Given the description of an element on the screen output the (x, y) to click on. 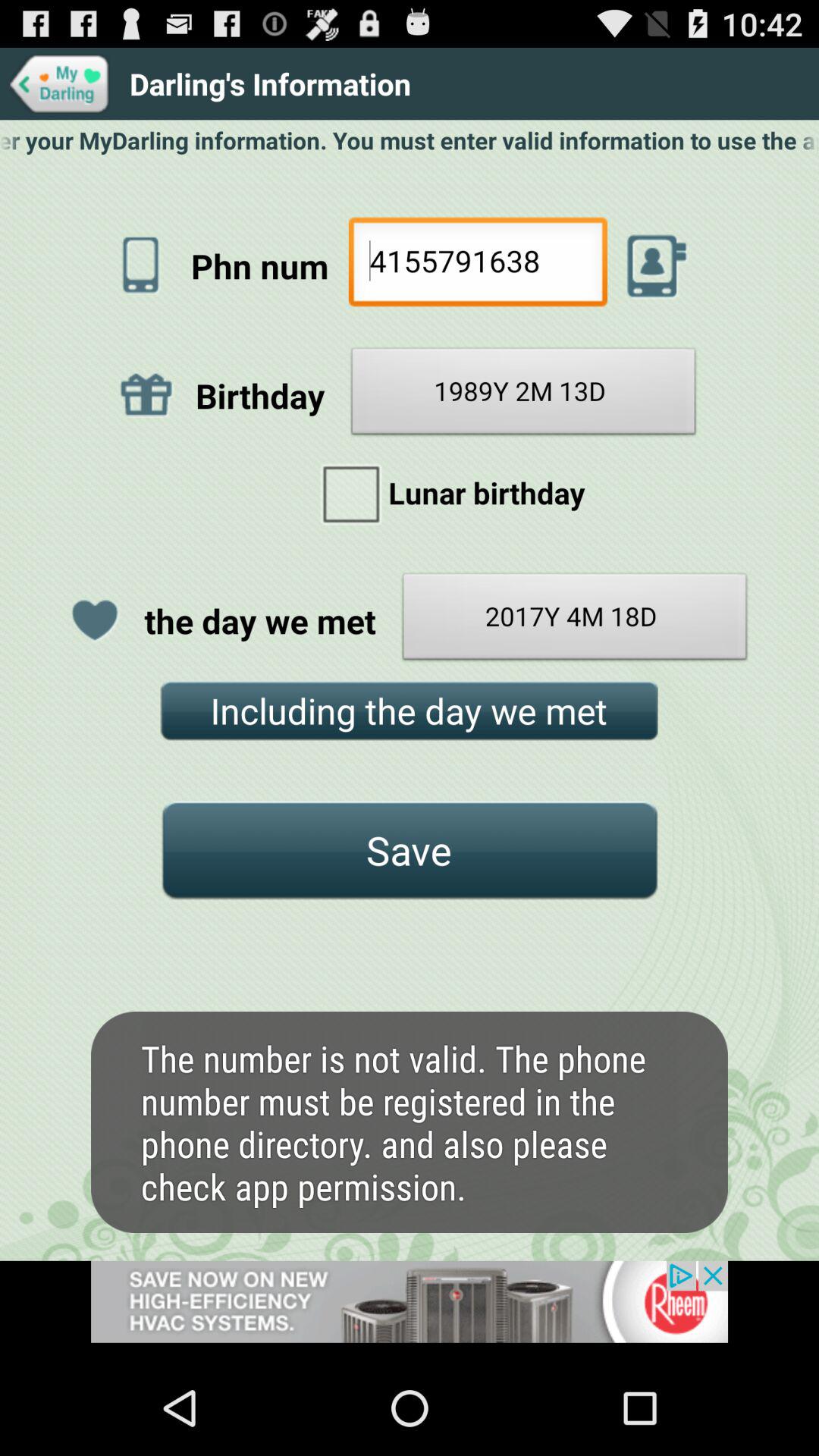
call this number (656, 265)
